Given the description of an element on the screen output the (x, y) to click on. 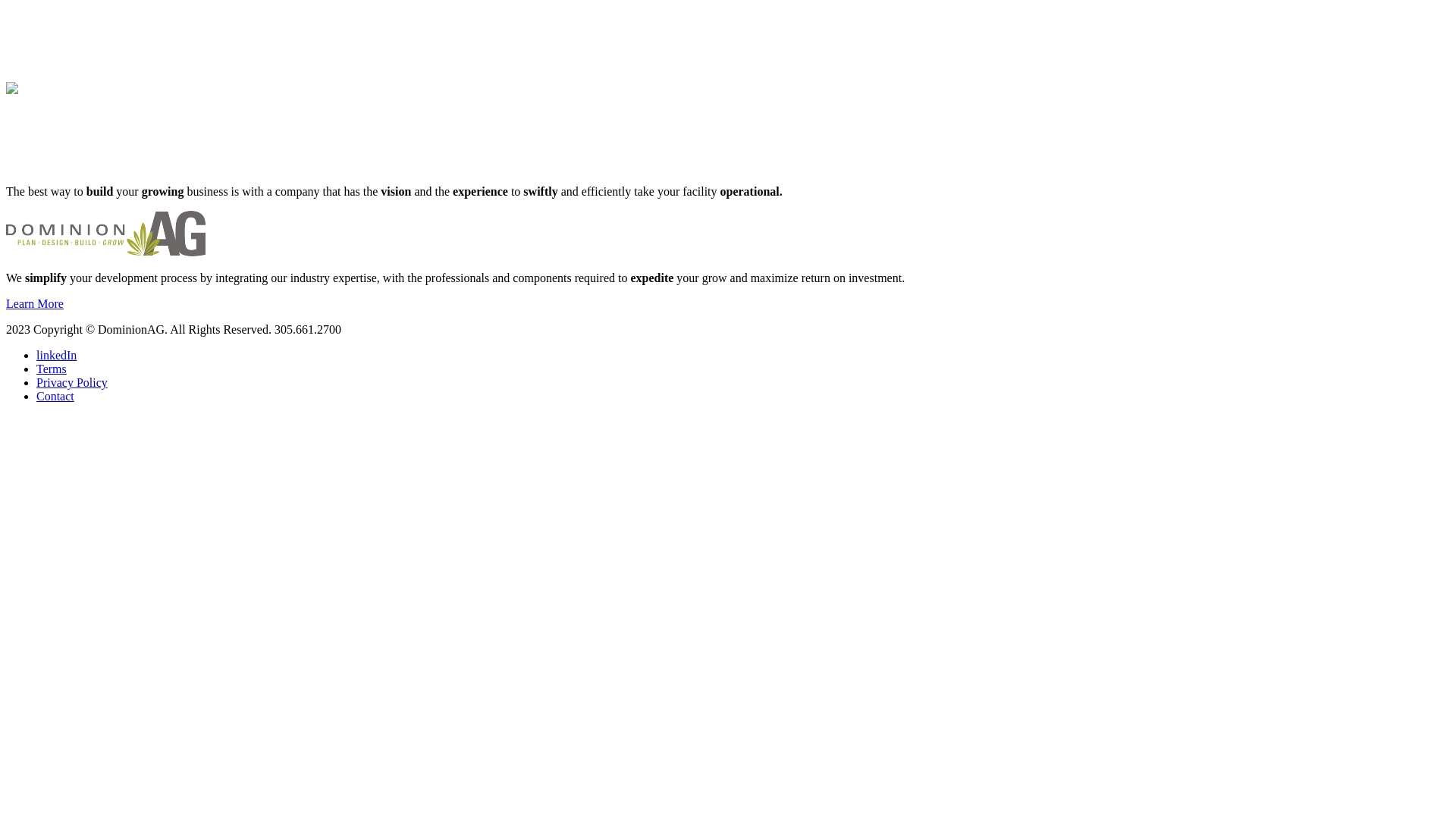
Privacy Policy Element type: text (71, 382)
Terms Element type: text (51, 368)
Learn More Element type: text (34, 303)
linkedIn Element type: text (56, 354)
Contact Element type: text (55, 395)
